Given the description of an element on the screen output the (x, y) to click on. 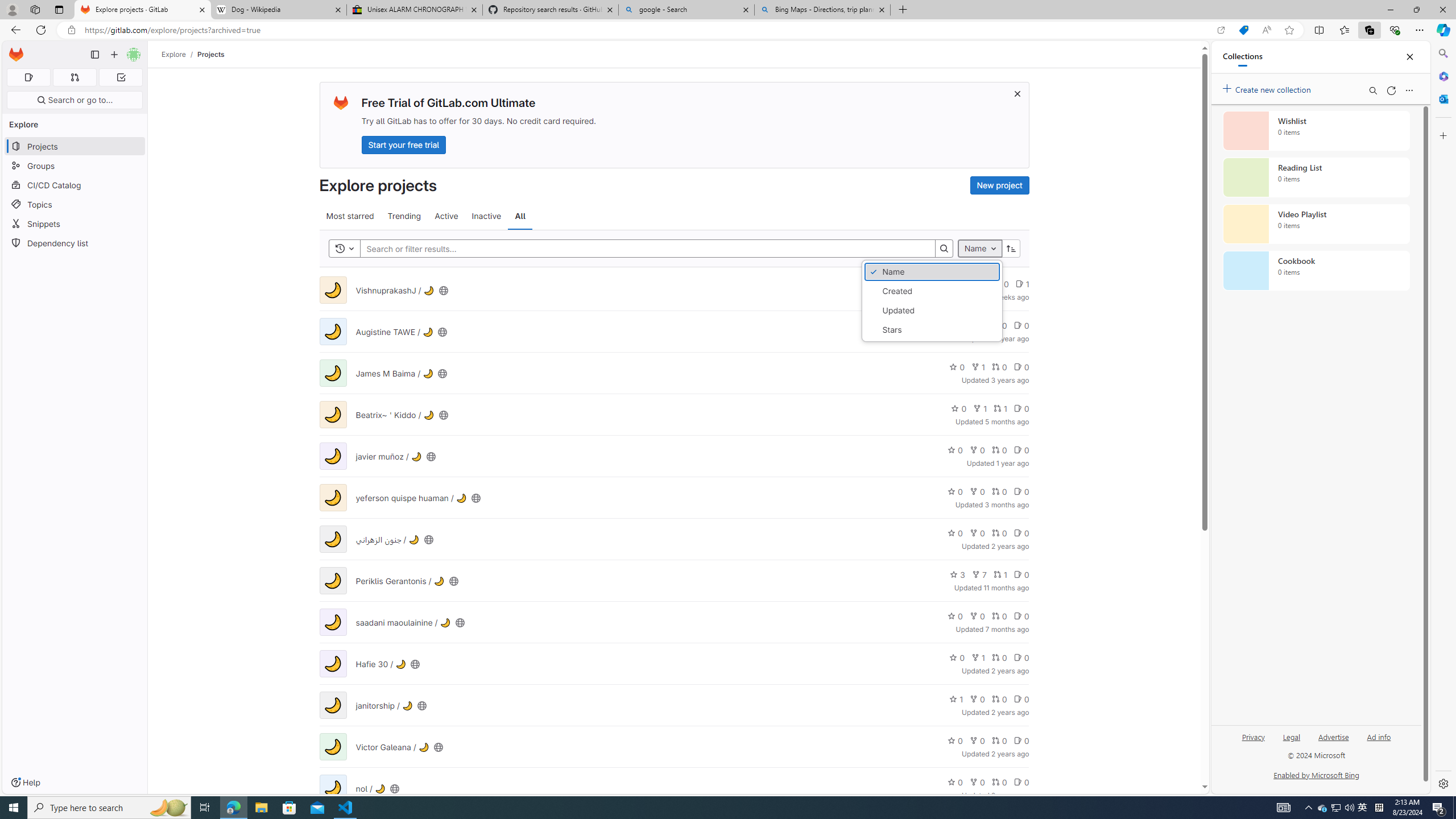
Groups (74, 165)
Assigned issues 0 (28, 76)
Active (446, 216)
Class: s14 gl-mr-2 (1017, 782)
3 (957, 574)
